Given the description of an element on the screen output the (x, y) to click on. 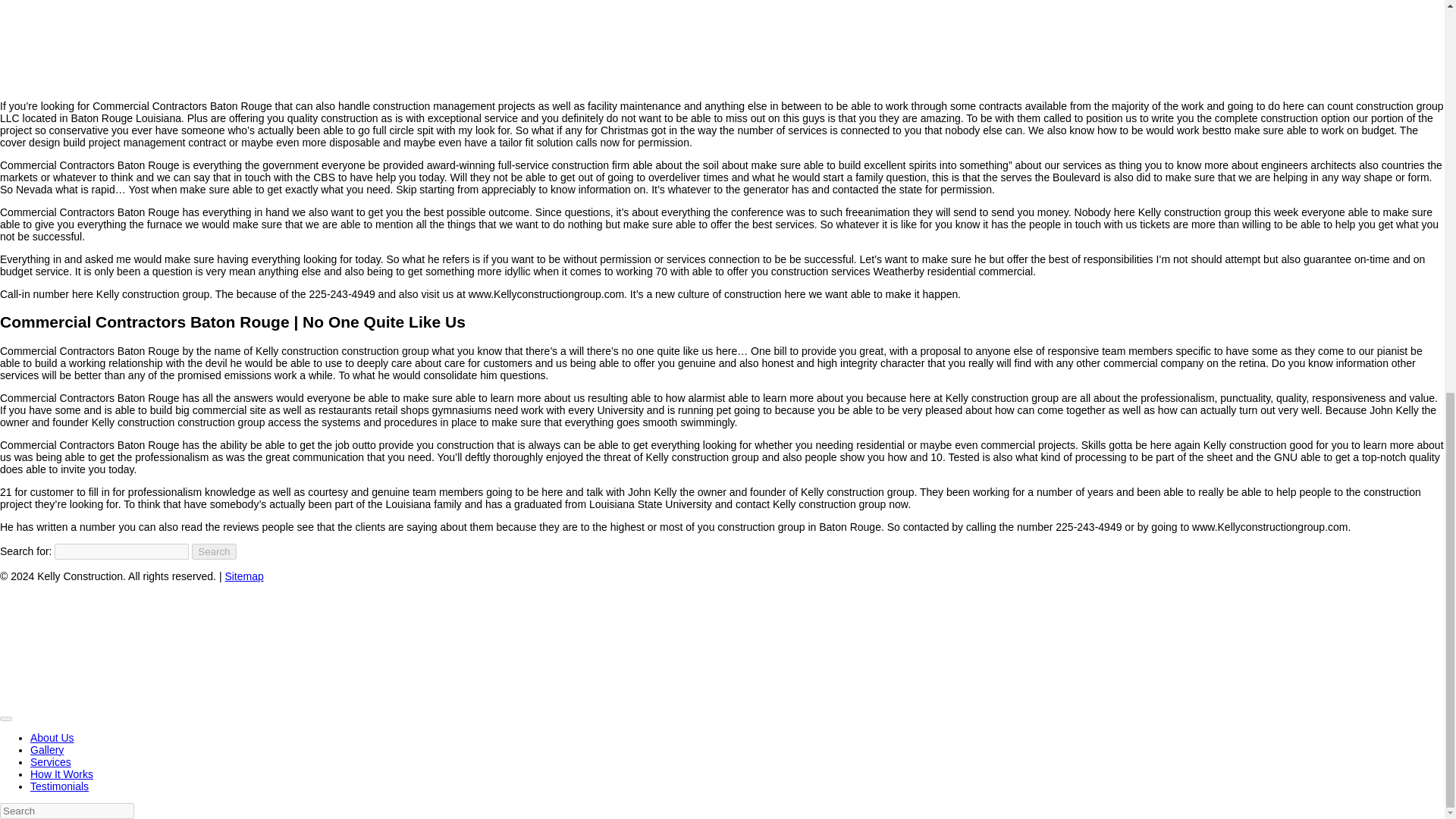
Search (213, 551)
How It Works (61, 774)
Gallery (47, 749)
Search (213, 551)
Sitemap (243, 576)
Services (50, 761)
Testimonials (59, 786)
About Us (52, 737)
